Given the description of an element on the screen output the (x, y) to click on. 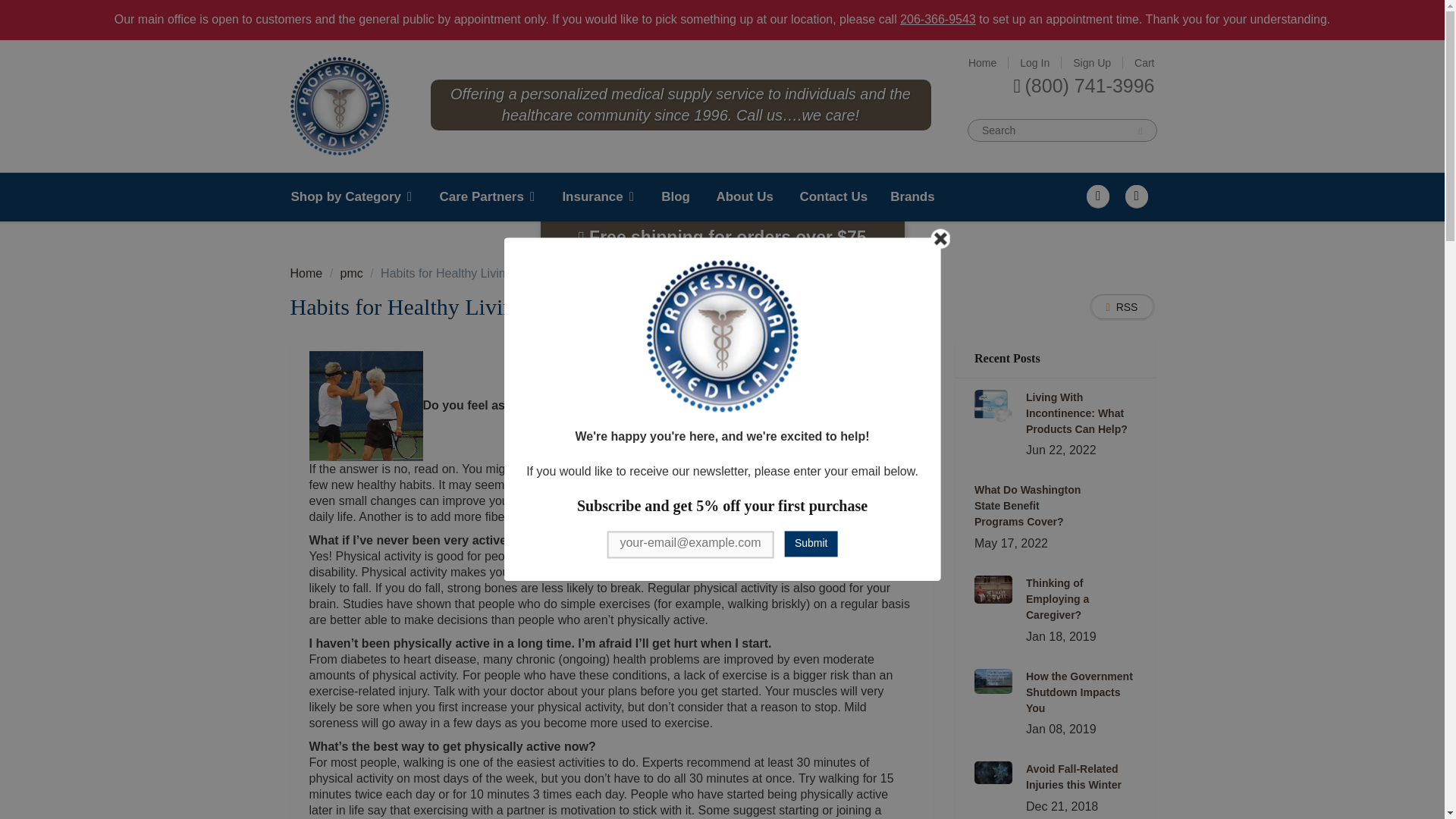
206-366-9543 (937, 19)
Log In (1034, 62)
Cart (1144, 62)
Shop by Category (358, 196)
Home (981, 62)
Sign Up (1091, 62)
